Given the description of an element on the screen output the (x, y) to click on. 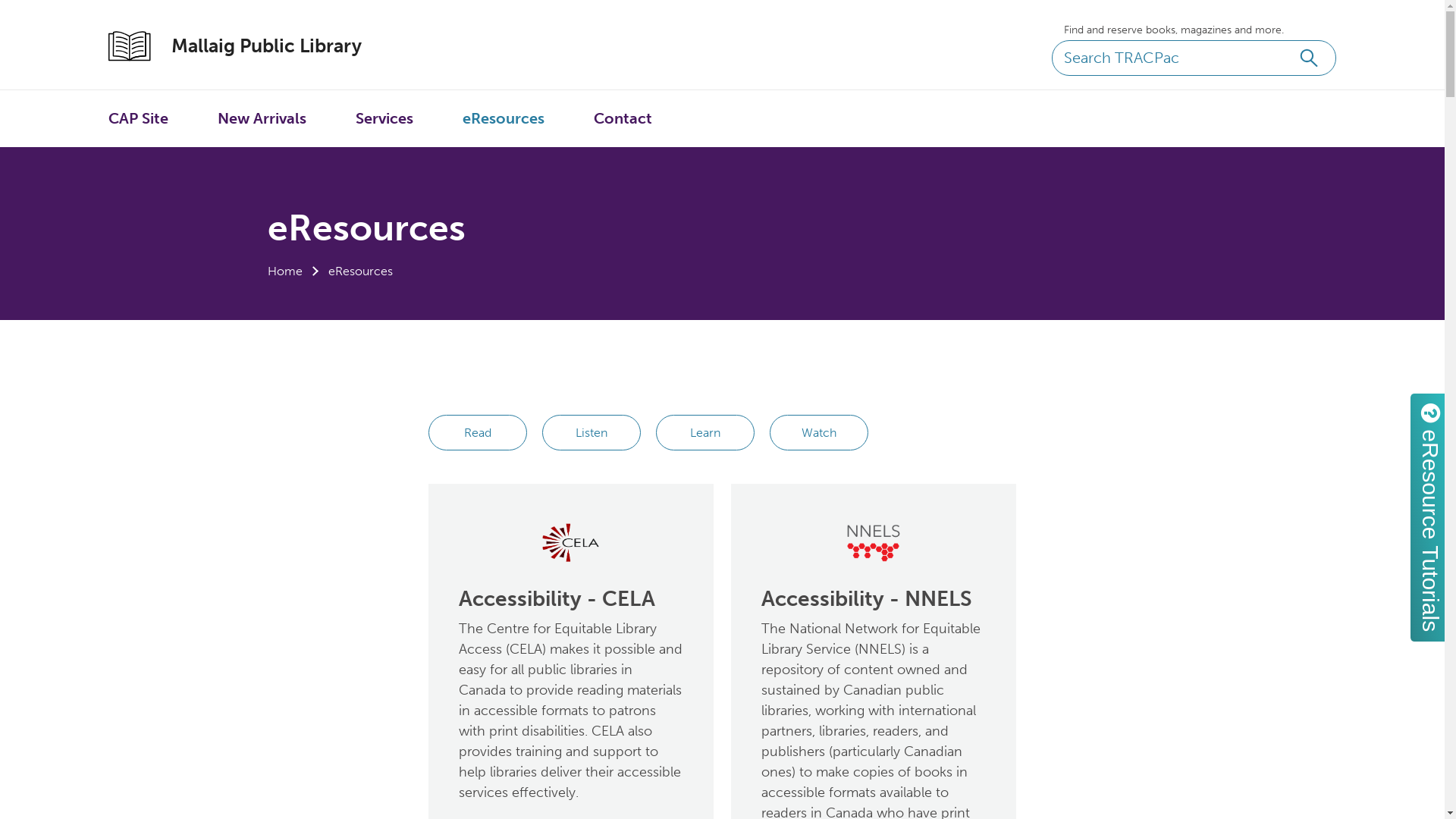
Listen Element type: text (591, 432)
Contact Element type: text (622, 118)
eResources Element type: text (503, 118)
CAP Site Element type: text (138, 118)
Home Element type: text (283, 270)
New Arrivals Element type: text (261, 118)
Read Element type: text (477, 432)
Mallaig Public Library Element type: text (250, 46)
Services Element type: text (384, 118)
Learn Element type: text (704, 432)
Watch Element type: text (818, 432)
